Given the description of an element on the screen output the (x, y) to click on. 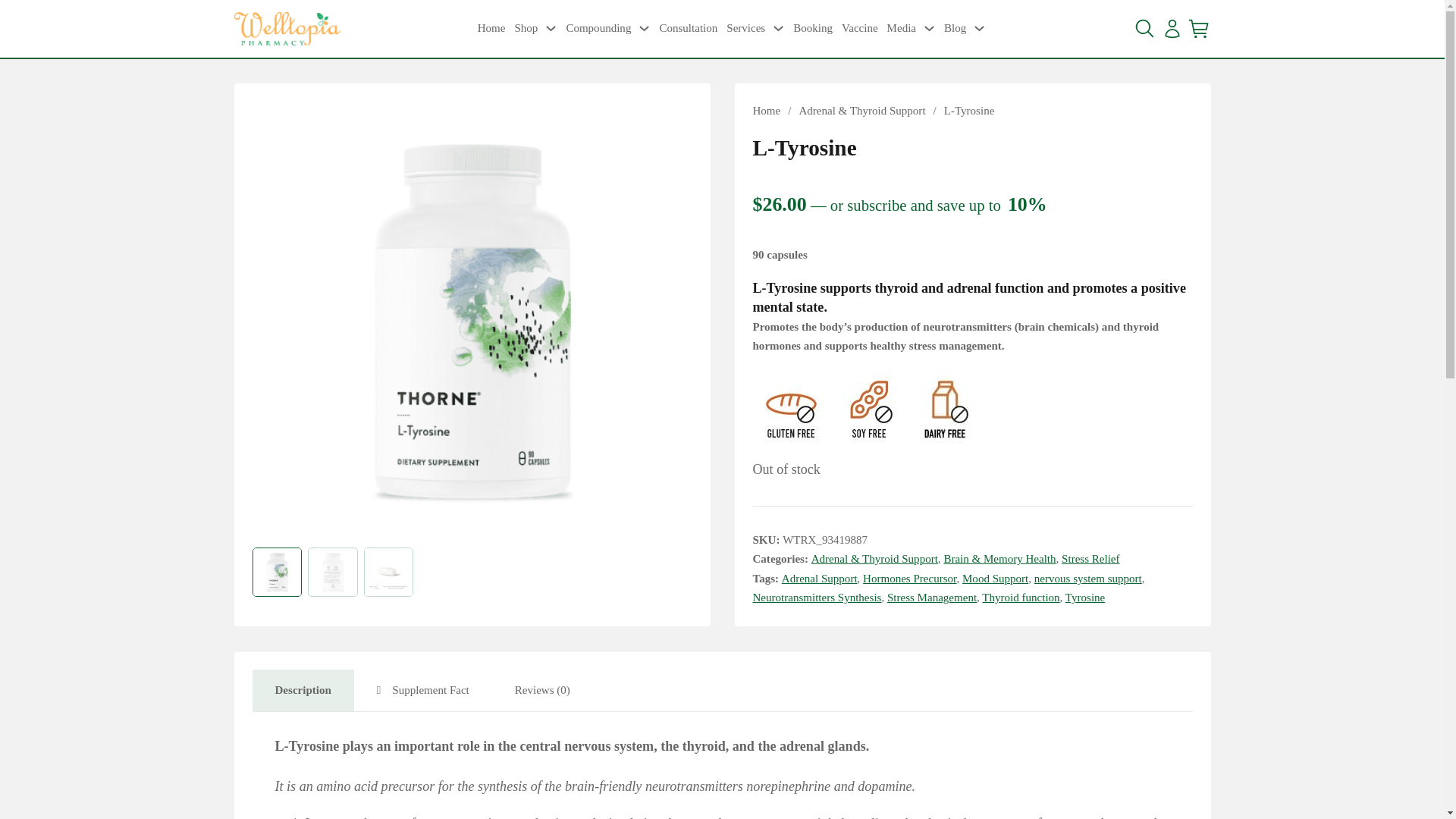
Shop (525, 28)
Compounding (598, 28)
Booking (812, 28)
Vaccine (859, 28)
Home (491, 28)
Services (745, 28)
Consultation (688, 28)
